Given the description of an element on the screen output the (x, y) to click on. 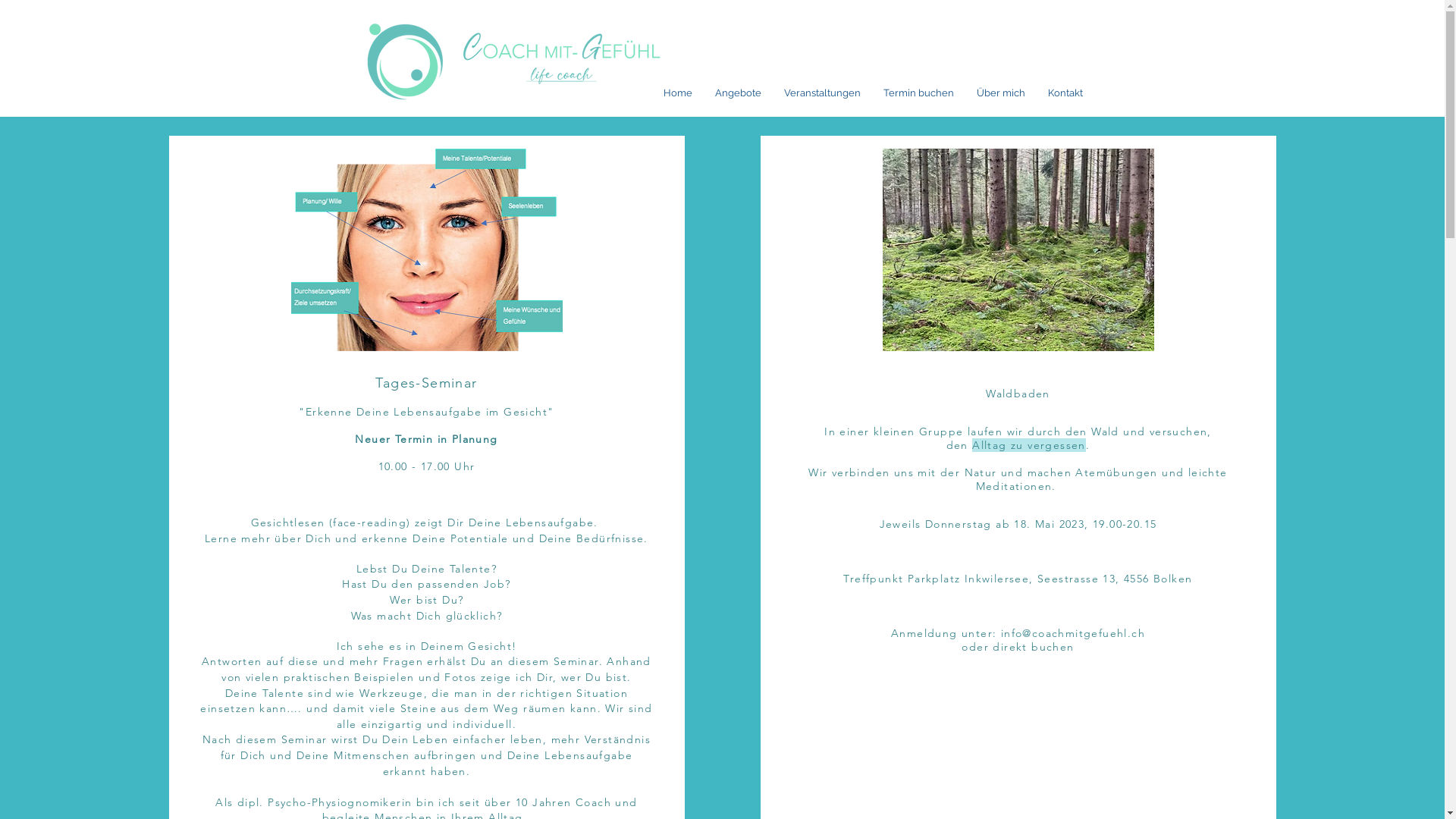
Home Element type: text (677, 92)
Angebote Element type: text (737, 92)
Termin buchen Element type: text (918, 92)
Veranstaltungen Element type: text (821, 92)
Kontakt Element type: text (1064, 92)
